Given the description of an element on the screen output the (x, y) to click on. 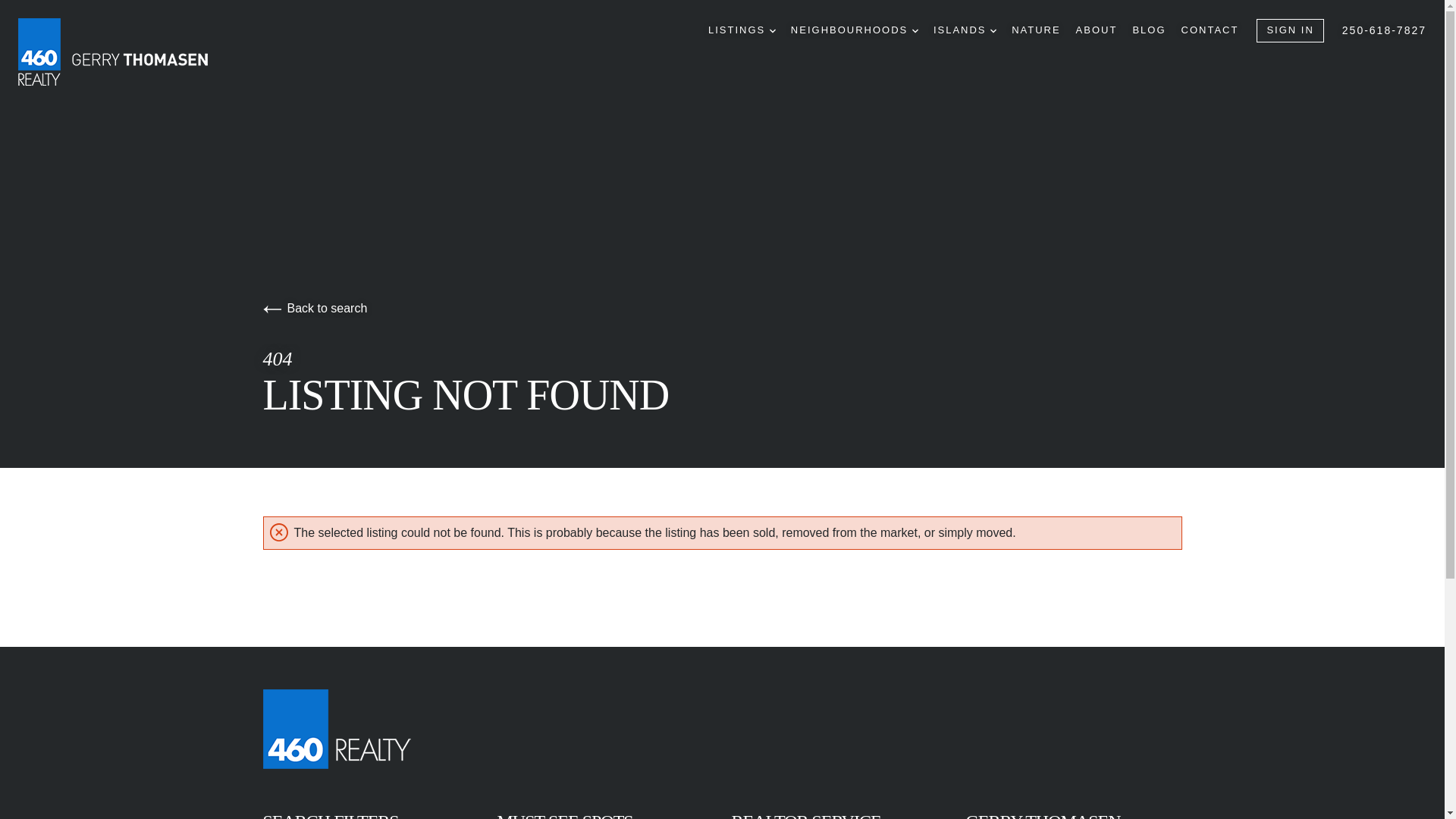
LISTINGS REAL ESTATE LISTINGS SEARCH (741, 30)
NEIGHBOURHOODS LIST OF NANAIMO NEIGHBOURHOODS (854, 30)
REAL ESTATE LISTINGS SEARCH (773, 30)
LIST OF NANAIMO NEIGHBOURHOODS (915, 30)
GULF ISLANDS NEAR NANAIMO (992, 30)
ISLANDS GULF ISLANDS NEAR NANAIMO (964, 30)
